Given the description of an element on the screen output the (x, y) to click on. 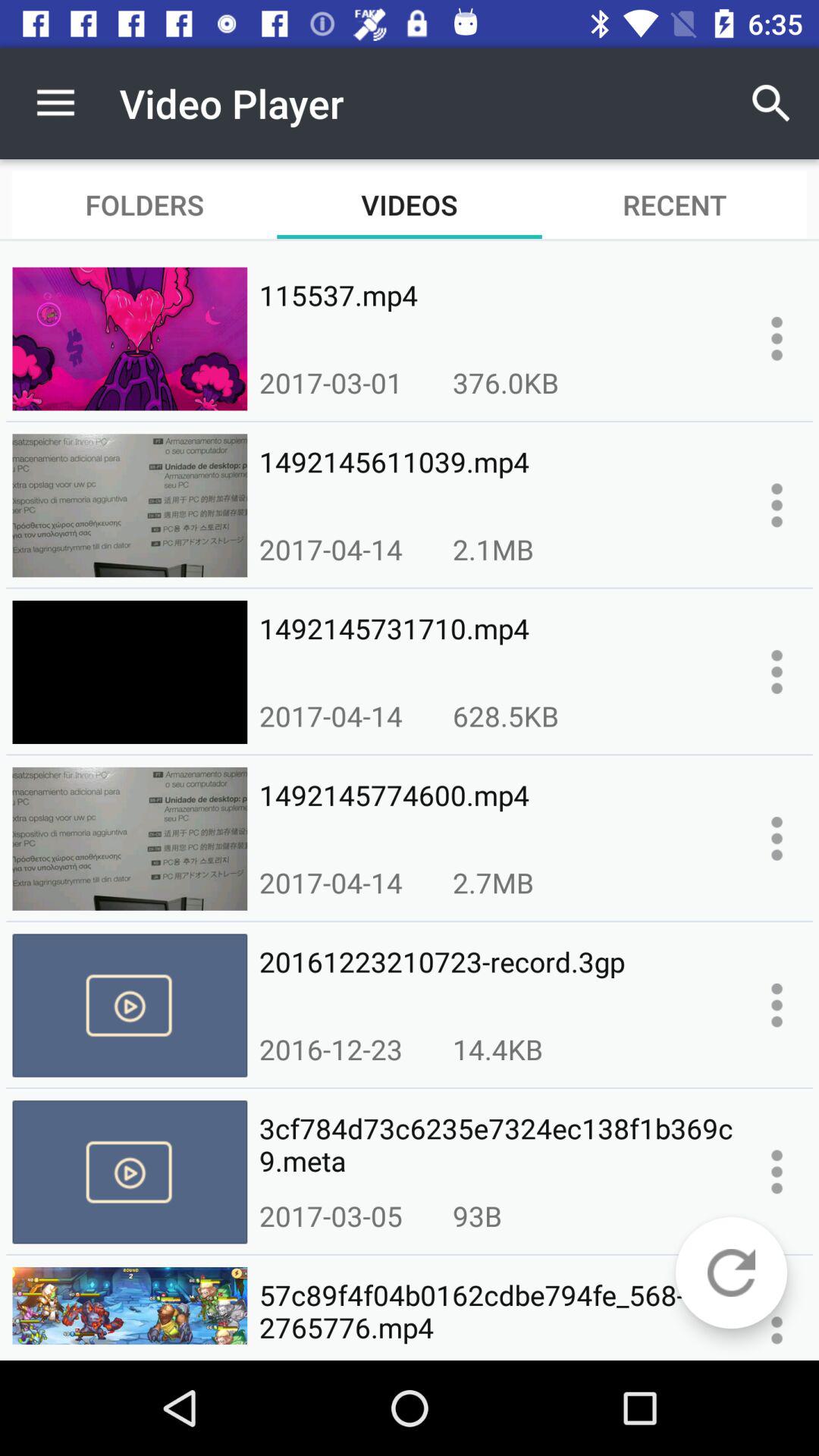
select the icon below the 115537.mp4 icon (505, 382)
